Given the description of an element on the screen output the (x, y) to click on. 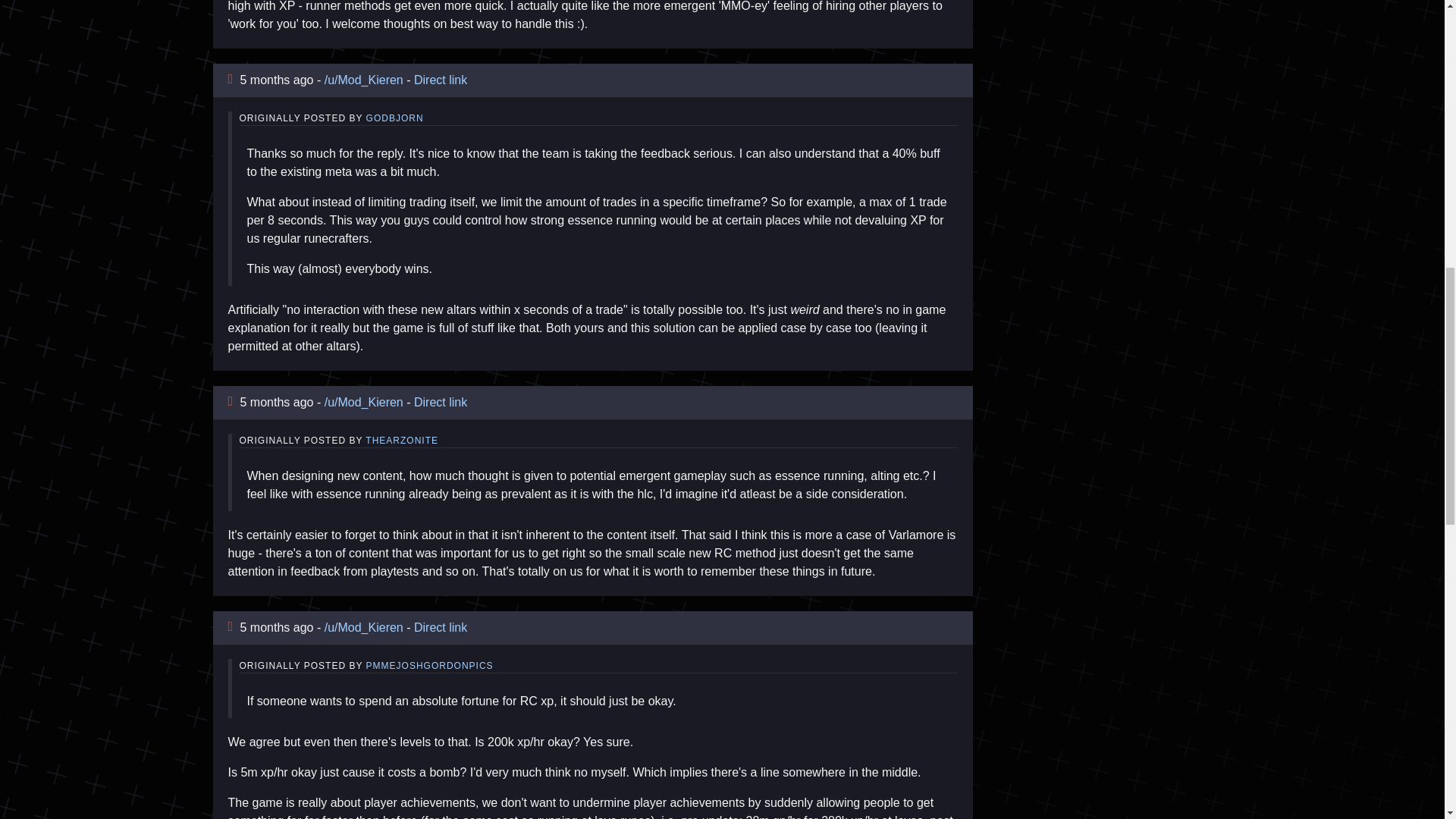
Direct link (440, 401)
Direct link (440, 79)
PMMEJOSHGORDONPICS (429, 665)
GODBJORN (394, 118)
THEARZONITE (401, 439)
Direct link (440, 626)
